Given the description of an element on the screen output the (x, y) to click on. 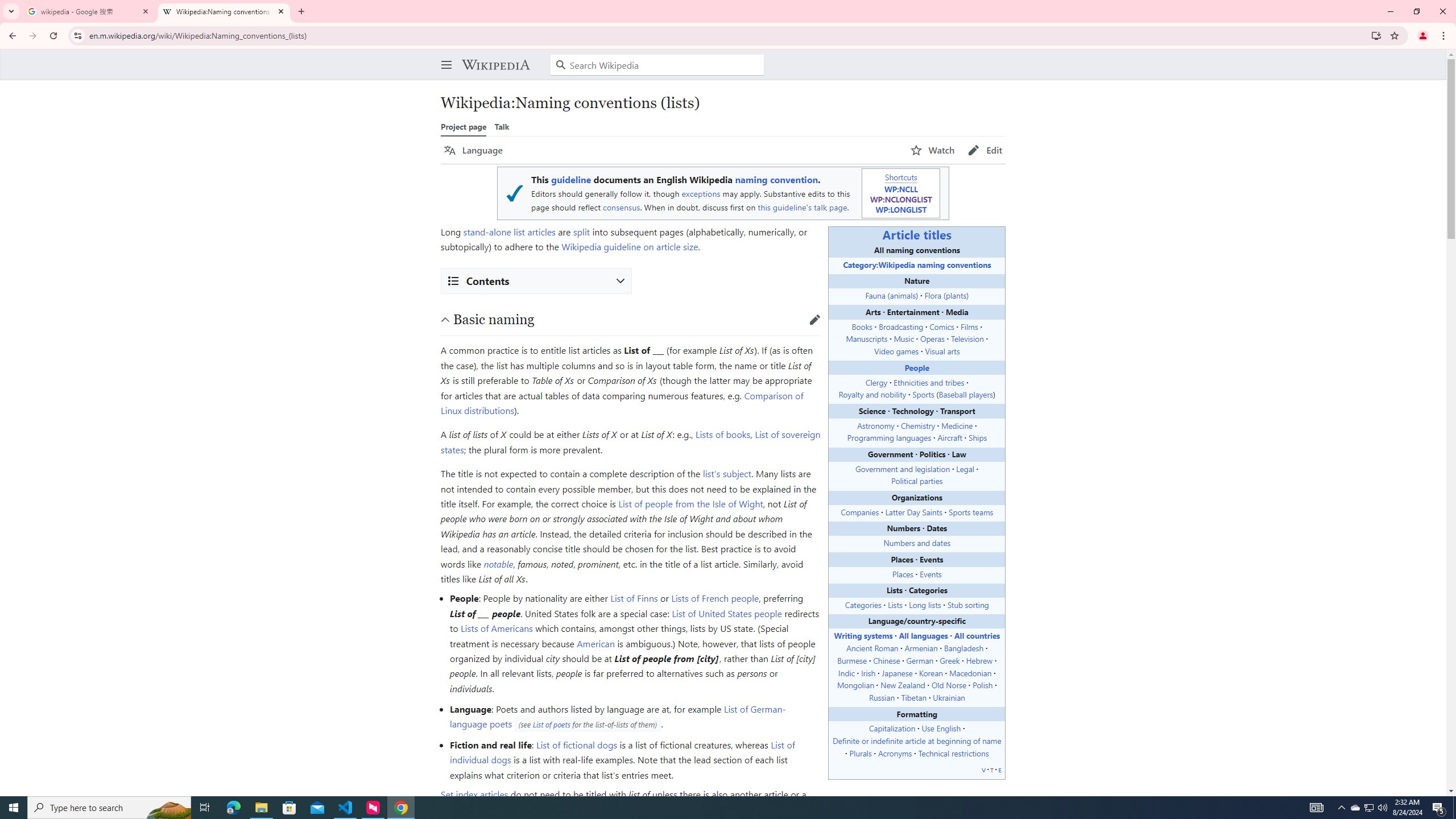
AutomationID: main-menu-input (443, 55)
stand-alone list articles (509, 231)
Lists (894, 603)
notable (498, 563)
Royalty and nobility (872, 394)
Astronomy (874, 424)
Hebrew (978, 659)
Sports (923, 394)
edit (814, 319)
Long lists (924, 603)
Lists of Americans (496, 628)
List of people from the Isle of Wight (690, 503)
Capitalization (891, 728)
Television (967, 338)
